Given the description of an element on the screen output the (x, y) to click on. 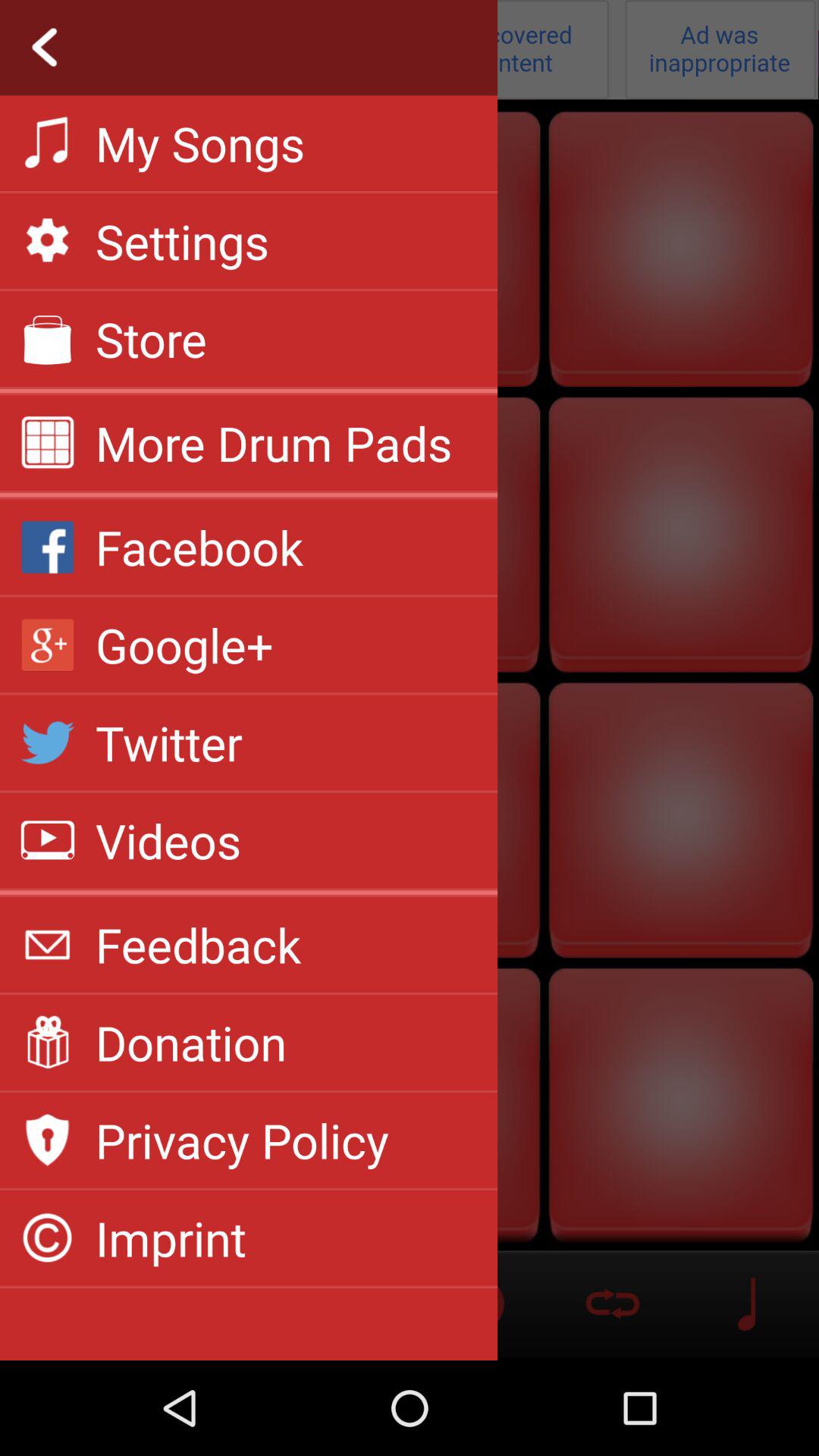
launch the feedback icon (198, 944)
